Given the description of an element on the screen output the (x, y) to click on. 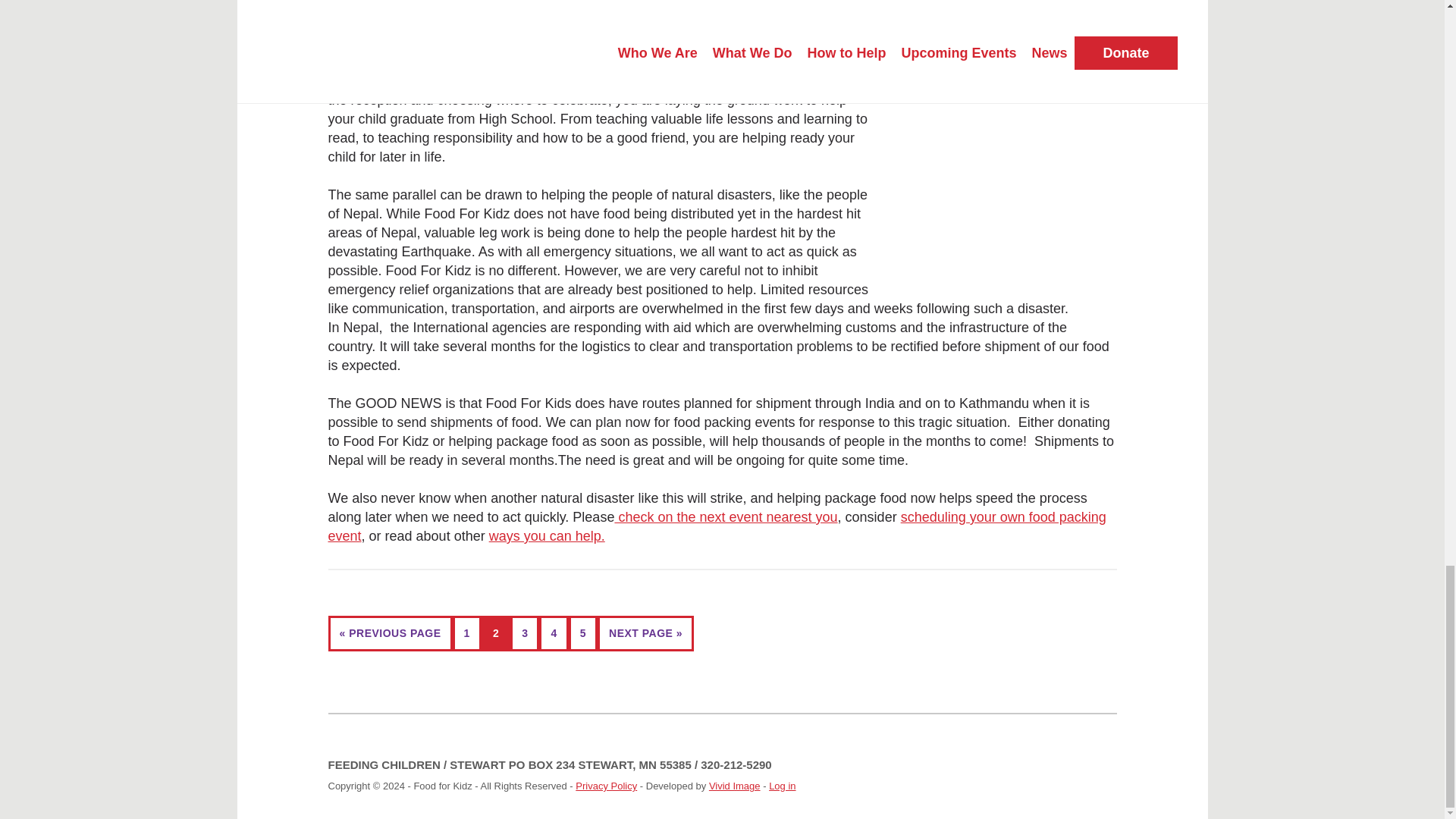
check on the next event nearest you (725, 516)
foodforkidz (419, 20)
Helping Nepal (428, 2)
ways you can help. (547, 535)
scheduling your own food packing event (716, 526)
